Given the description of an element on the screen output the (x, y) to click on. 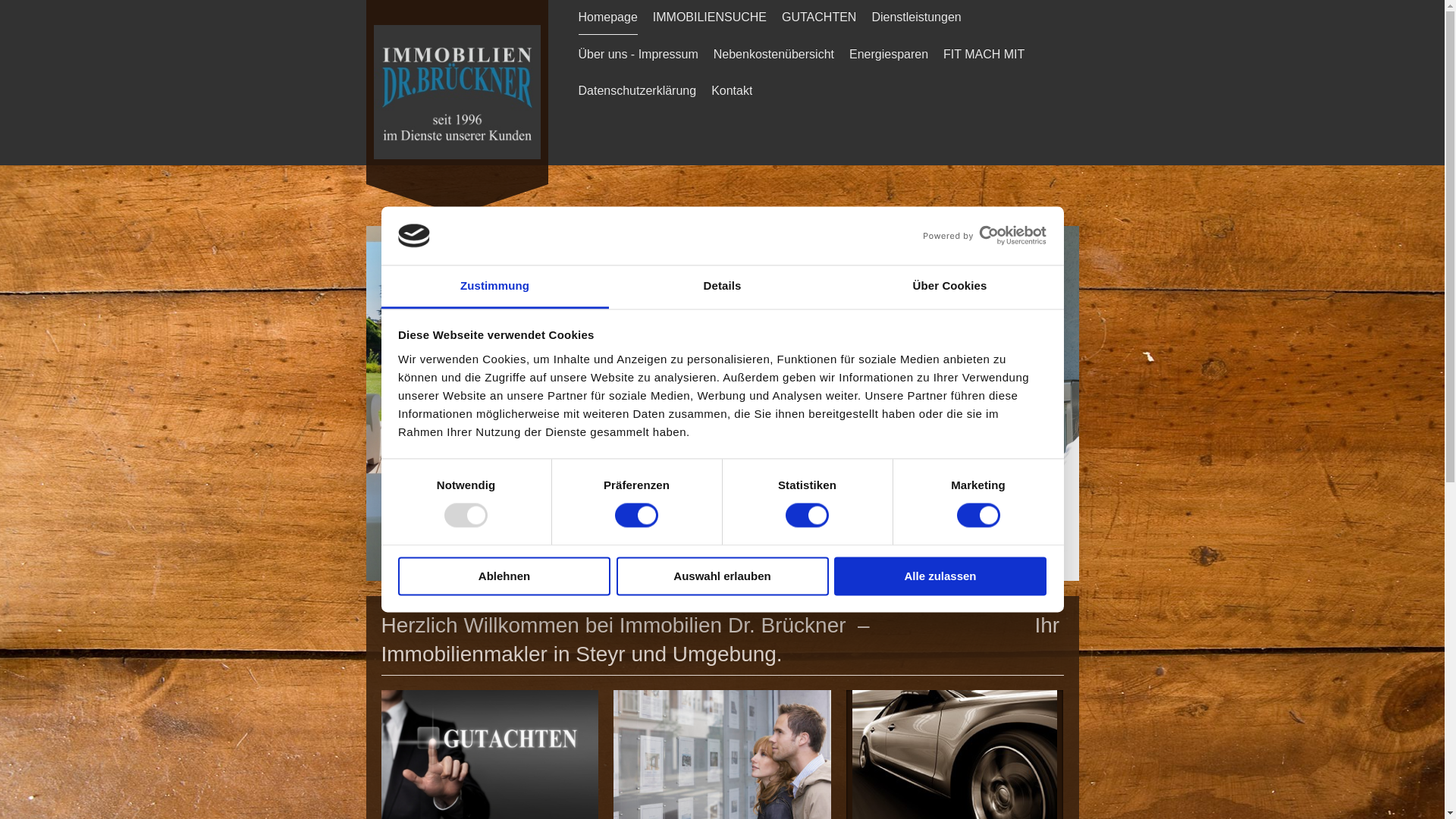
GUTACHTEN Element type: text (818, 17)
Energiesparen Element type: text (888, 54)
Ablehnen Element type: text (504, 575)
Homepage Element type: text (607, 17)
Dienstleistungen Element type: text (915, 17)
FIT MACH MIT Element type: text (983, 54)
Details Element type: text (721, 286)
Kontakt Element type: text (731, 90)
Alle zulassen Element type: text (940, 575)
Zustimmung Element type: text (494, 286)
Auswahl erlauben Element type: text (721, 575)
IMMOBILIENSUCHE Element type: text (709, 17)
